Given the description of an element on the screen output the (x, y) to click on. 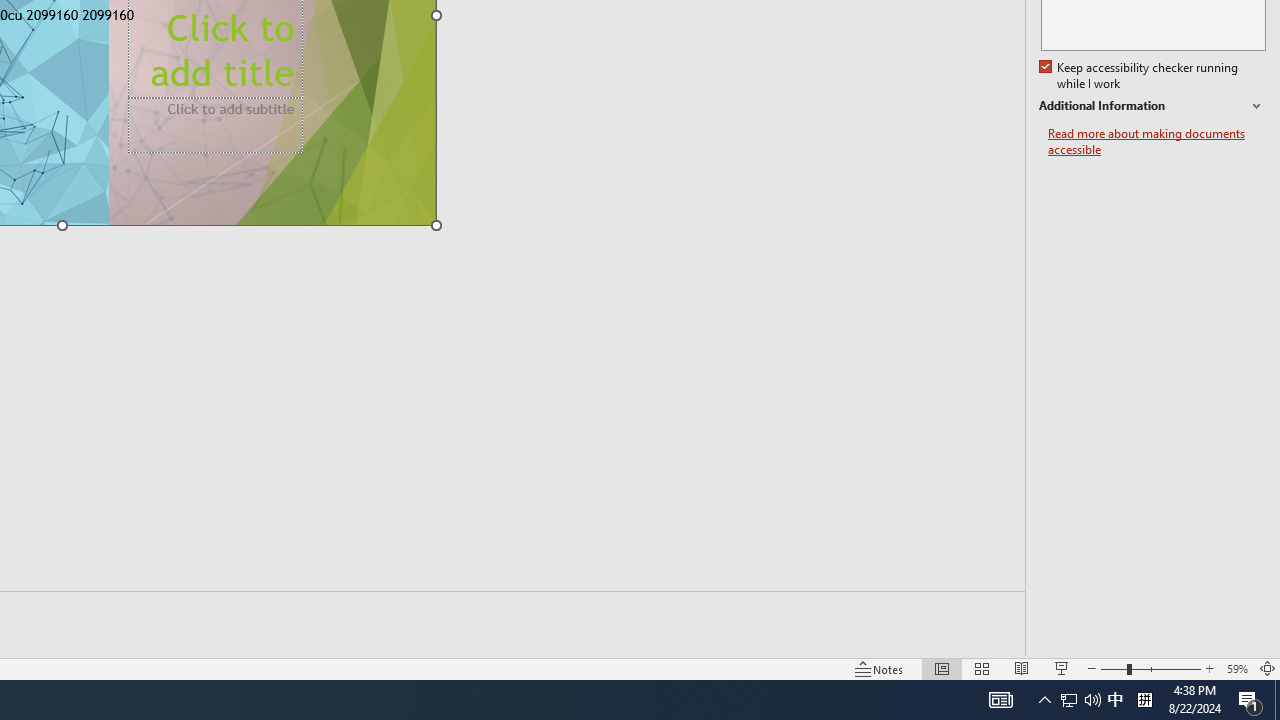
Read more about making documents accessible (1156, 142)
Zoom 59% (1236, 668)
